Given the description of an element on the screen output the (x, y) to click on. 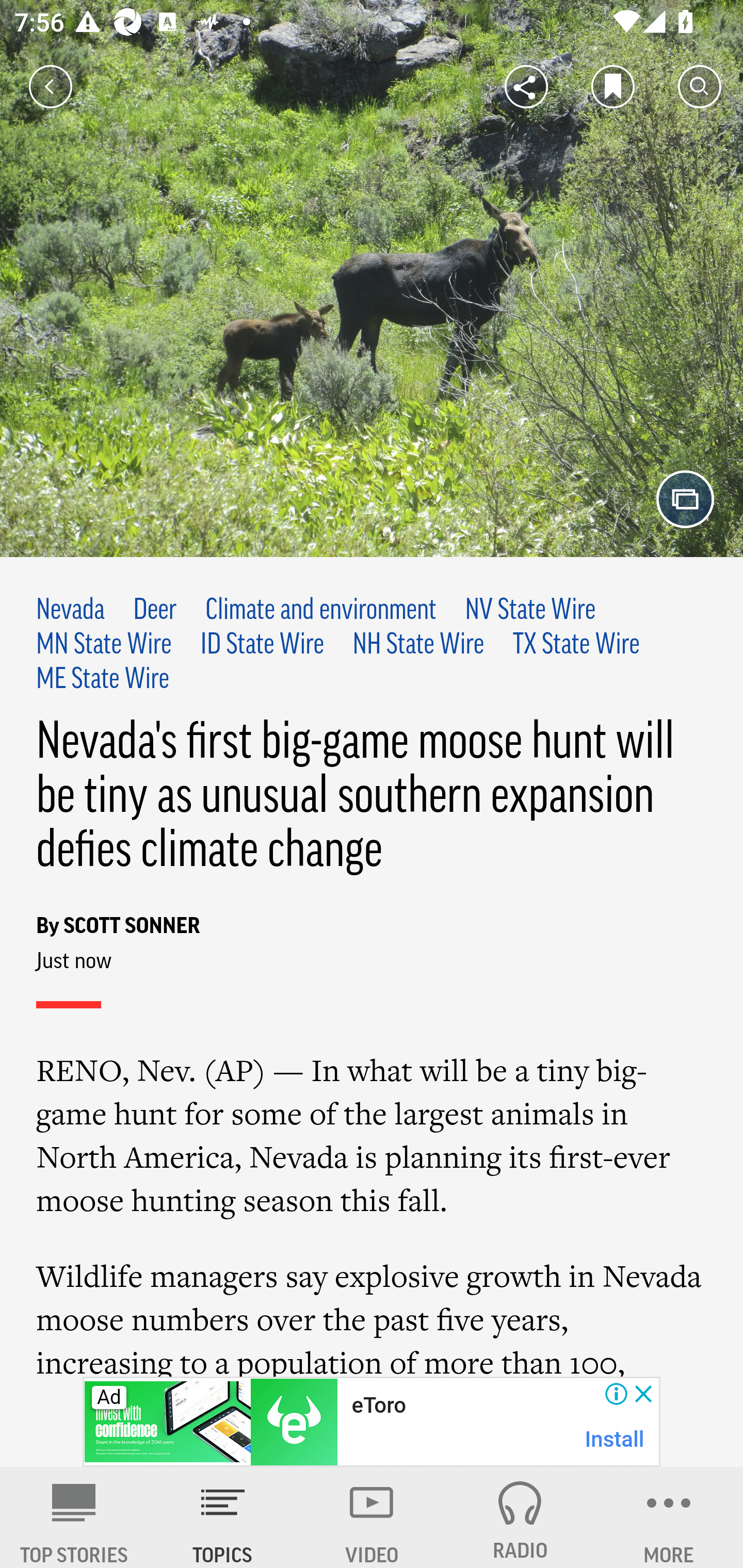
Nevada (71, 610)
Deer (154, 610)
Climate and environment (319, 610)
NV State Wire (529, 610)
MN State Wire (104, 645)
ID State Wire (261, 645)
NH State Wire (418, 645)
TX State Wire (575, 645)
ME State Wire (103, 679)
eToro (378, 1405)
Install (614, 1438)
AP News TOP STORIES (74, 1517)
TOPICS (222, 1517)
VIDEO (371, 1517)
RADIO (519, 1517)
MORE (668, 1517)
